Given the description of an element on the screen output the (x, y) to click on. 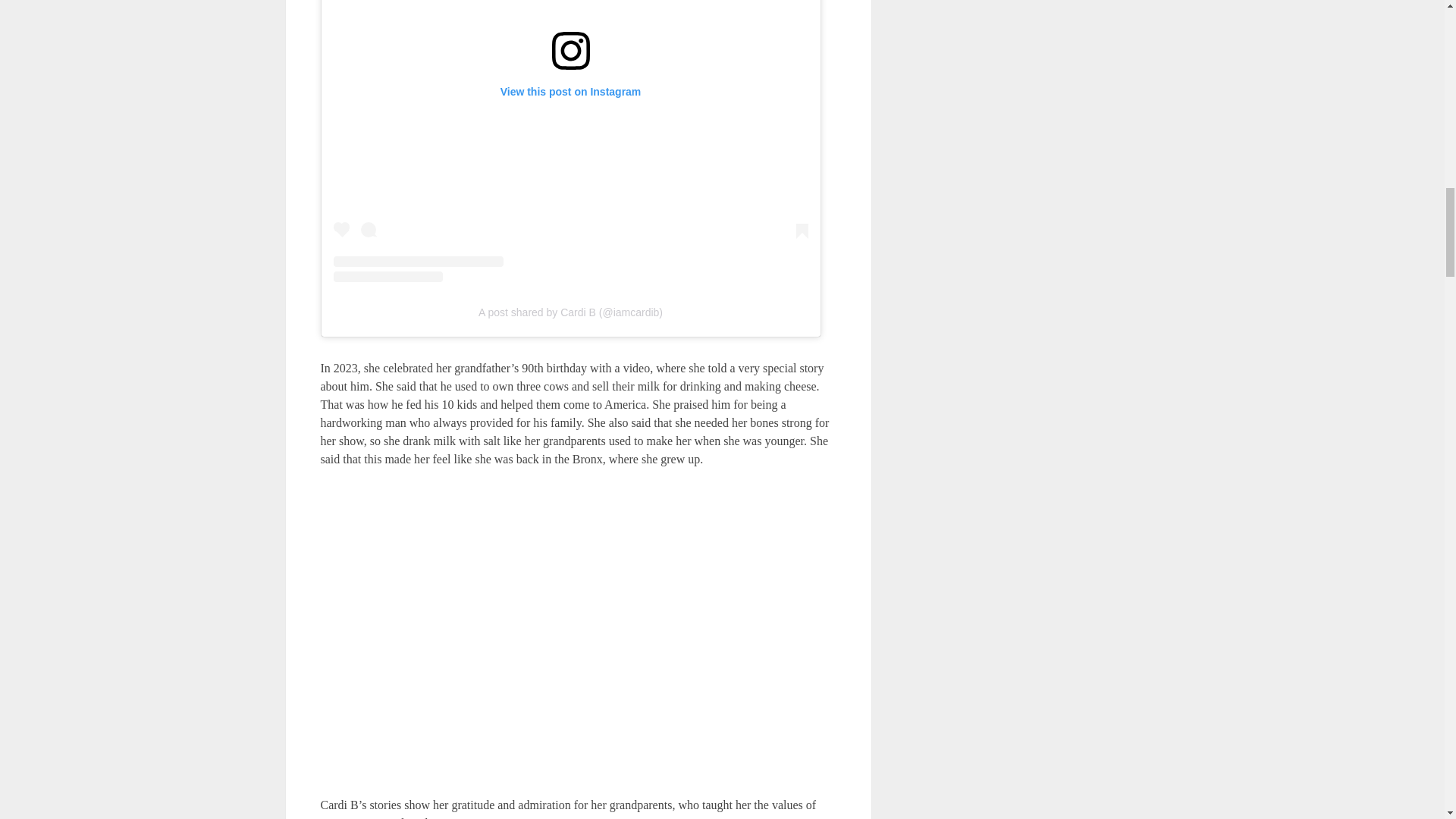
View this post on Instagram (570, 140)
